Given the description of an element on the screen output the (x, y) to click on. 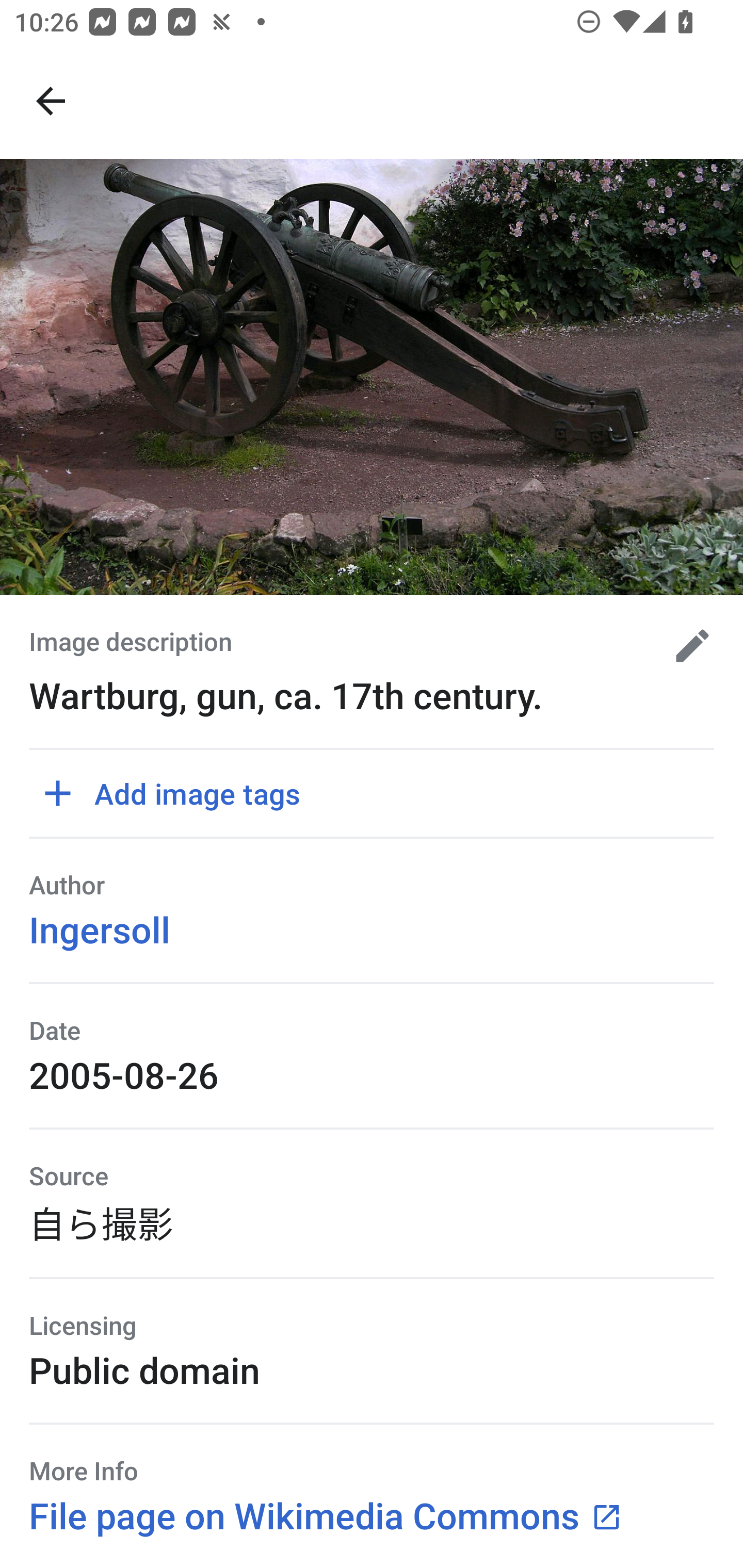
Navigate up (50, 101)
Edit Image description (685, 645)
Add image tags (178, 793)
File page on Wikimedia Commons (325, 1515)
